Given the description of an element on the screen output the (x, y) to click on. 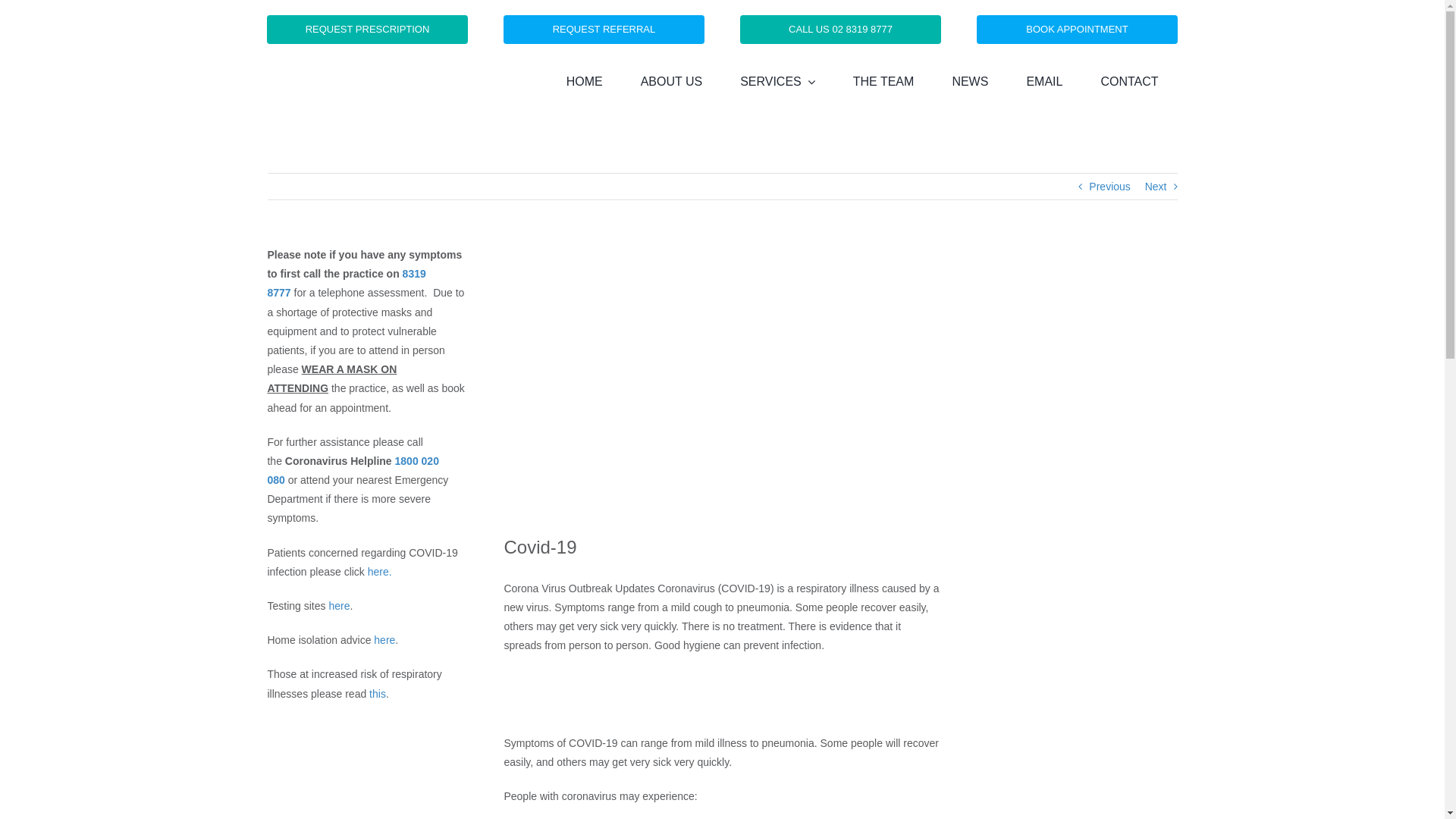
REQUEST PRESCRIPTION Element type: text (366, 29)
THE TEAM Element type: text (883, 82)
here Element type: text (384, 639)
REQUEST REFERRAL Element type: text (603, 29)
NEWS Element type: text (969, 82)
Next Element type: text (1156, 186)
SERVICES Element type: text (777, 82)
Previous Element type: text (1108, 186)
1800 020 080 Element type: text (352, 470)
here Element type: text (338, 605)
CALL US 02 8319 8777 Element type: text (840, 29)
here. Element type: text (379, 571)
EMAIL Element type: text (1044, 82)
8319 8777 Element type: text (345, 282)
this Element type: text (377, 693)
CONTACT Element type: text (1128, 82)
HOME Element type: text (584, 82)
ABOUT US Element type: text (671, 82)
BOOK APPOINTMENT Element type: text (1076, 29)
